Given the description of an element on the screen output the (x, y) to click on. 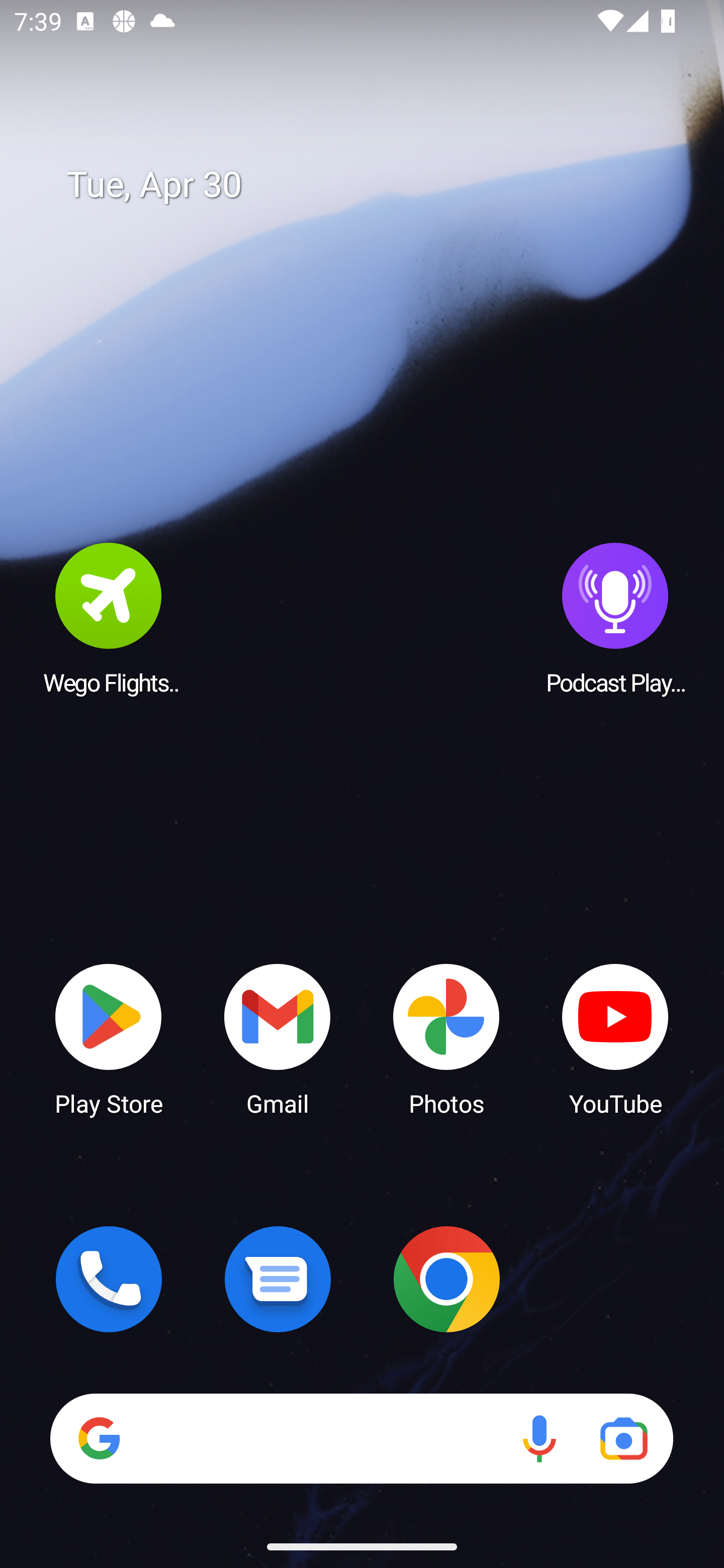
Tue, Apr 30 (375, 184)
Wego Flights & Hotels (108, 617)
Podcast Player (615, 617)
Play Store (108, 1038)
Gmail (277, 1038)
Photos (445, 1038)
YouTube (615, 1038)
Phone (108, 1279)
Messages (277, 1279)
Chrome (446, 1279)
Voice search (539, 1438)
Google Lens (623, 1438)
